Given the description of an element on the screen output the (x, y) to click on. 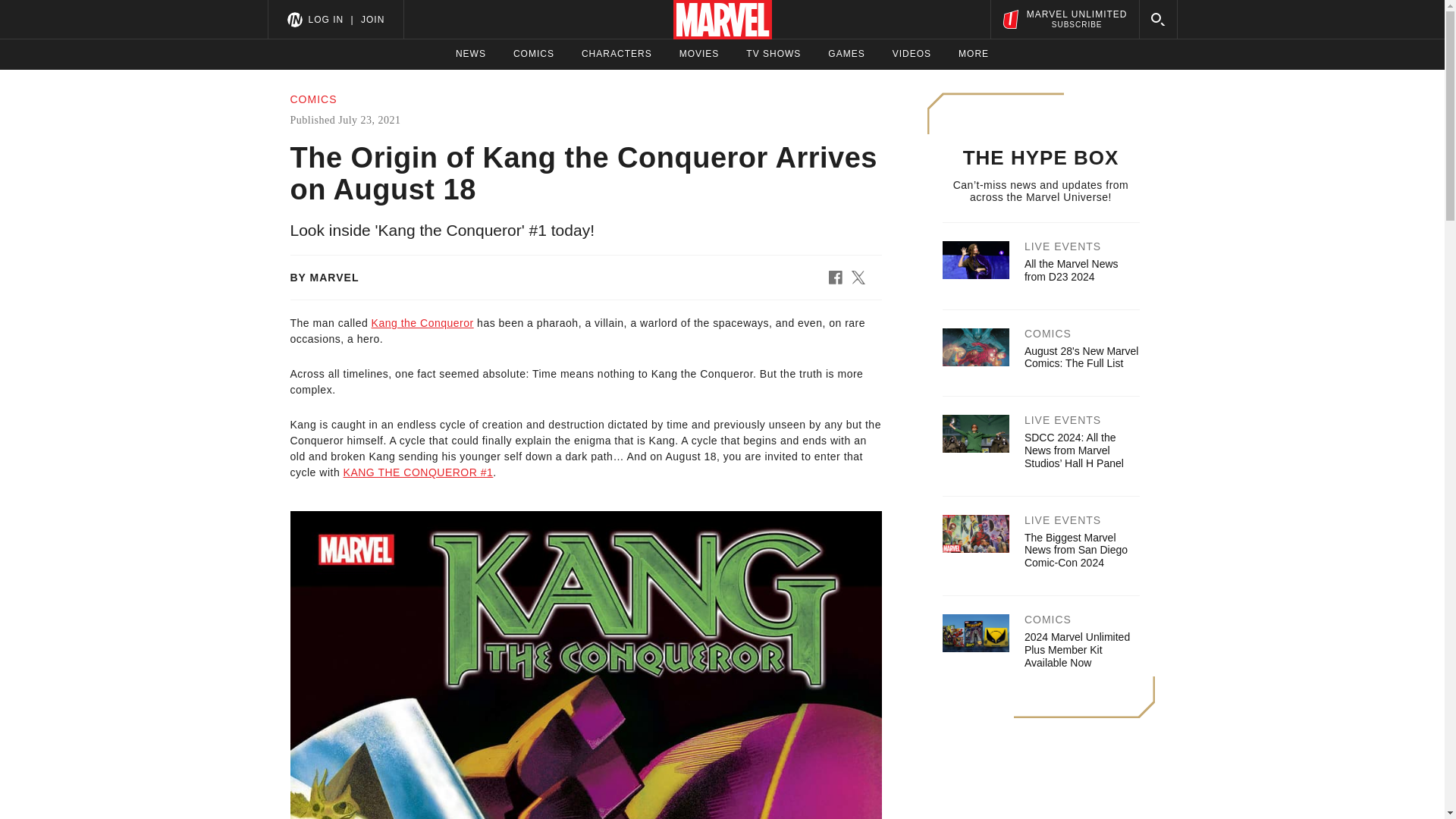
The Biggest Marvel News from San Diego Comic-Con 2024 (1075, 550)
MOVIES (1064, 19)
MORE (699, 54)
GAMES (973, 54)
2024 Marvel Unlimited Plus Member Kit Available Now (846, 54)
LOG IN (1077, 649)
CHARACTERS (325, 18)
NEWS (616, 54)
VIDEOS (470, 54)
